Given the description of an element on the screen output the (x, y) to click on. 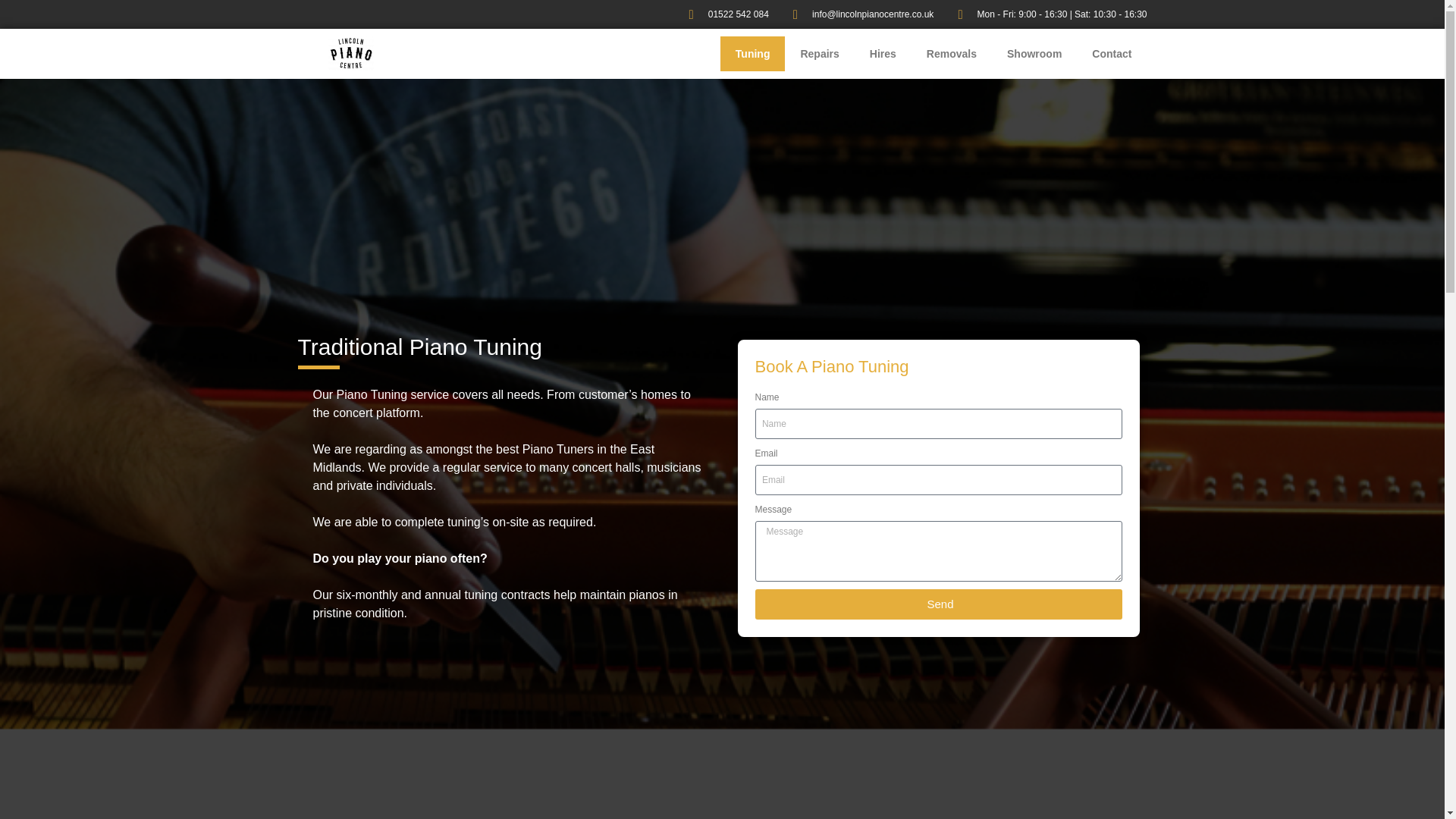
Showroom (1034, 53)
01522 542 084 (722, 14)
Contact (1112, 53)
Removals (951, 53)
Hires (882, 53)
lpc-logo-web-short (349, 53)
Send (938, 603)
Tuning (753, 53)
Repairs (818, 53)
